Given the description of an element on the screen output the (x, y) to click on. 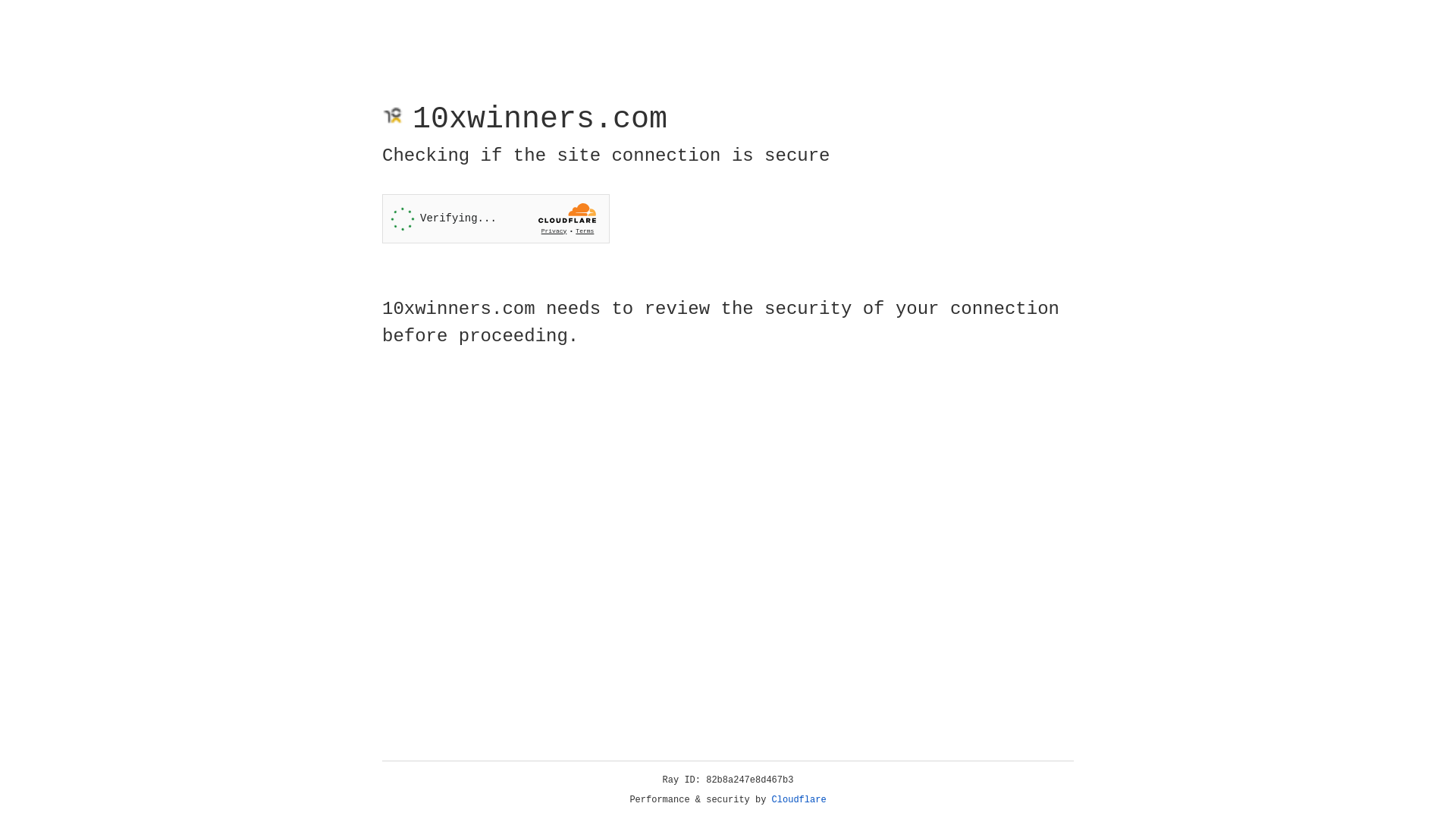
Cloudflare Element type: text (798, 799)
Widget containing a Cloudflare security challenge Element type: hover (495, 218)
